Given the description of an element on the screen output the (x, y) to click on. 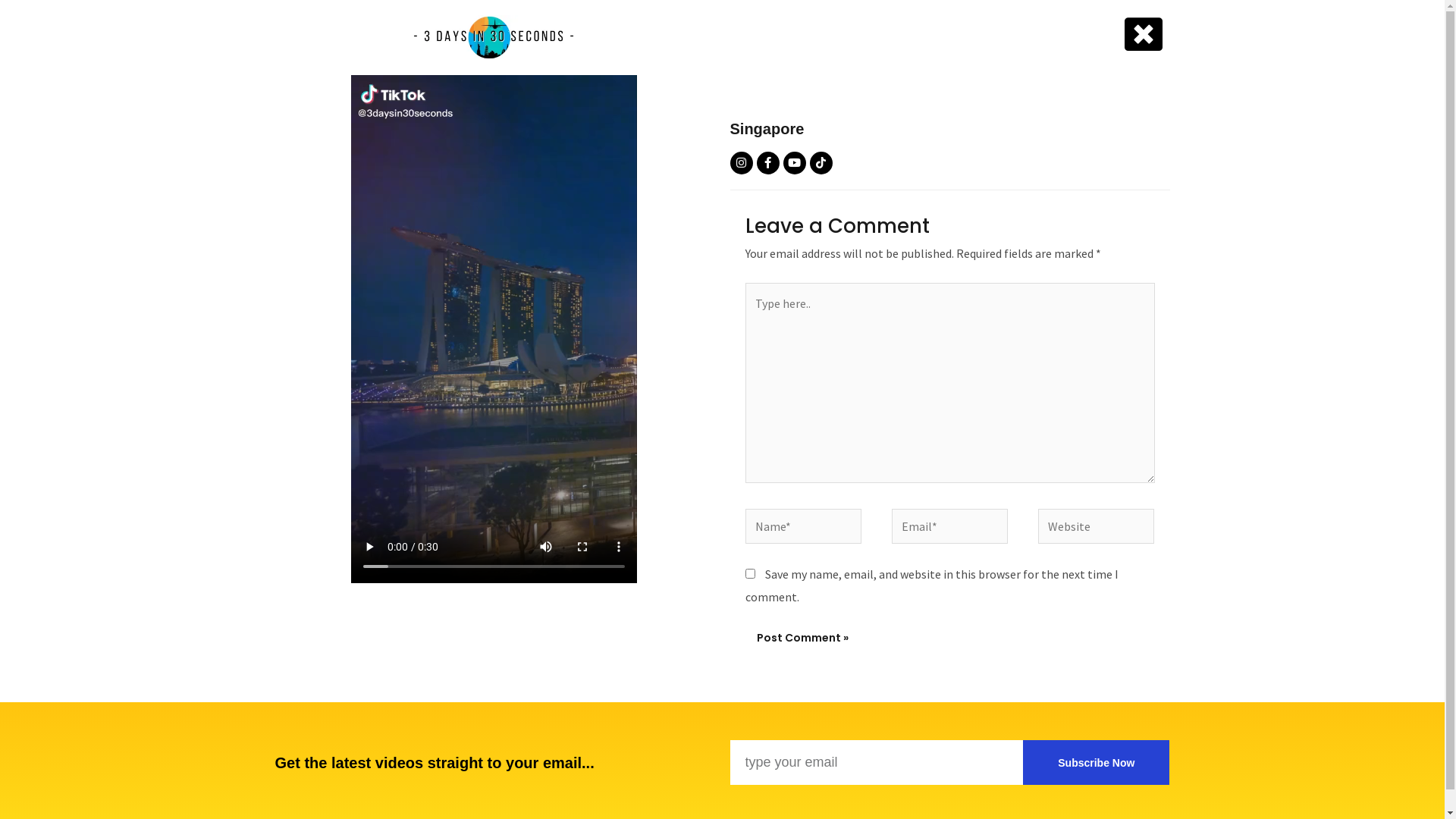
Facebook-f Element type: text (767, 162)
Subscribe Now Element type: text (1095, 762)
Instagram Element type: text (740, 162)
Youtube Element type: text (793, 162)
Icon-tiktok Element type: text (820, 162)
